Given the description of an element on the screen output the (x, y) to click on. 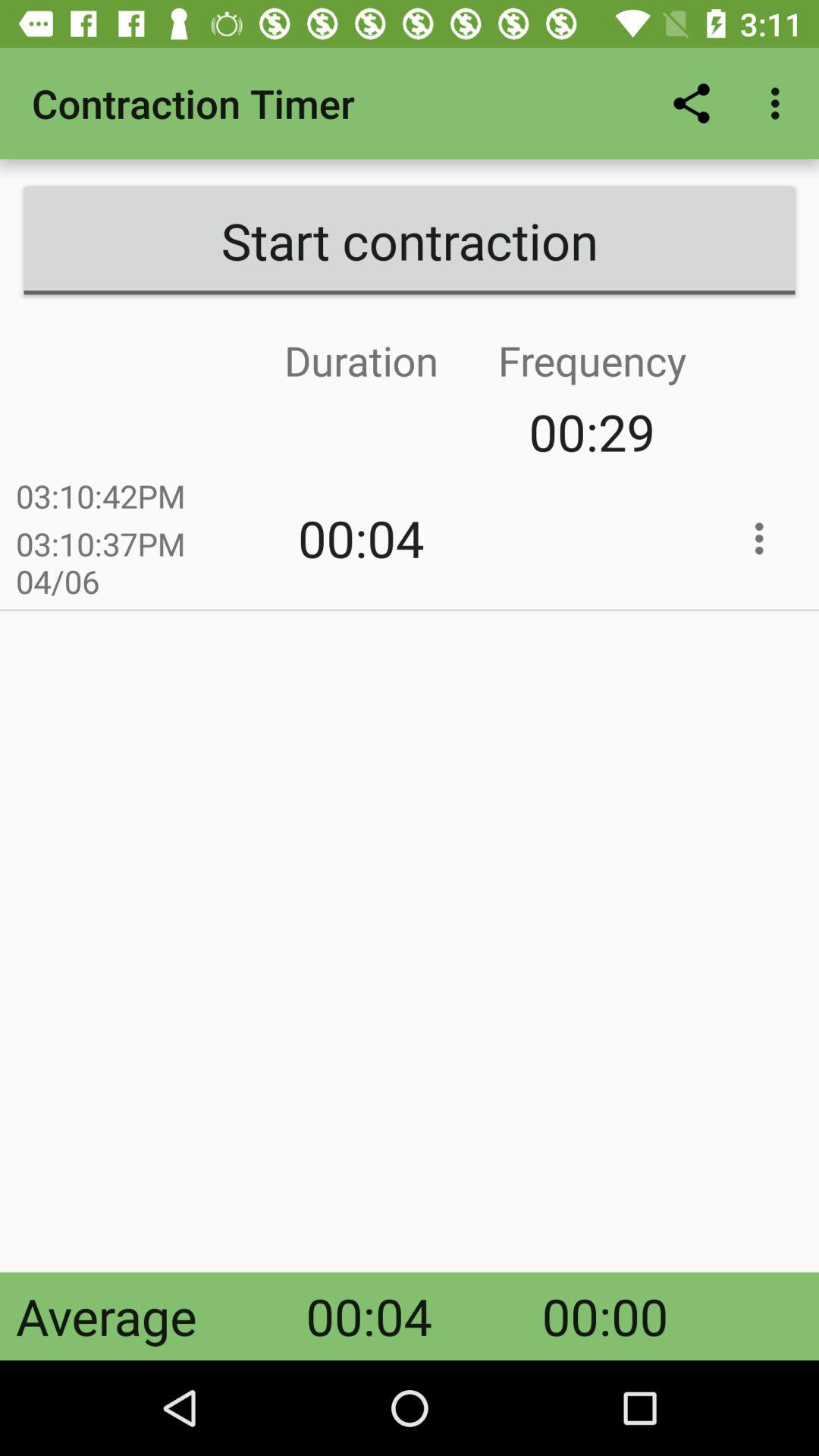
launch the app to the right of contraction timer item (691, 103)
